Given the description of an element on the screen output the (x, y) to click on. 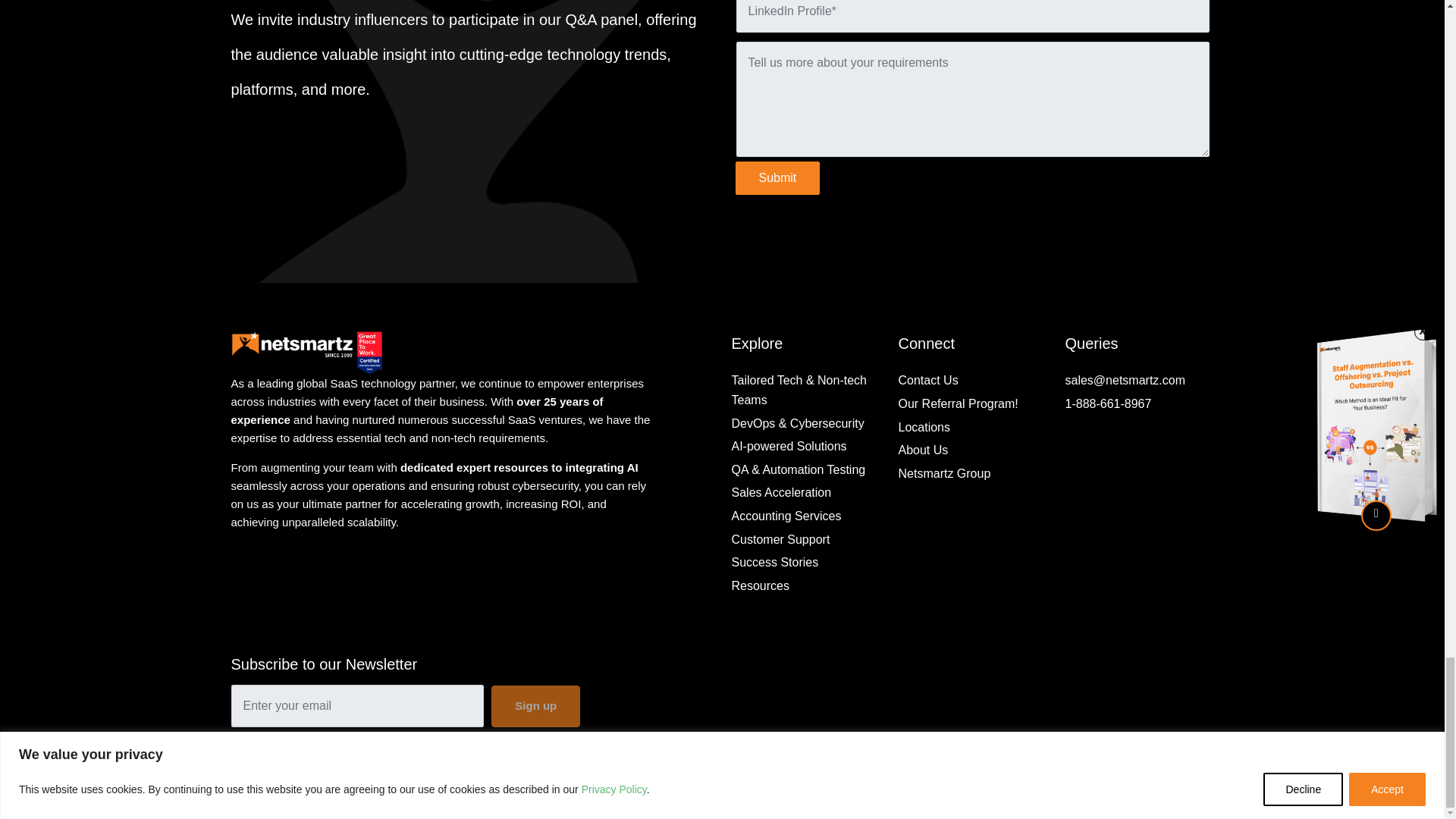
Submit (778, 177)
Sign up (535, 706)
